Given the description of an element on the screen output the (x, y) to click on. 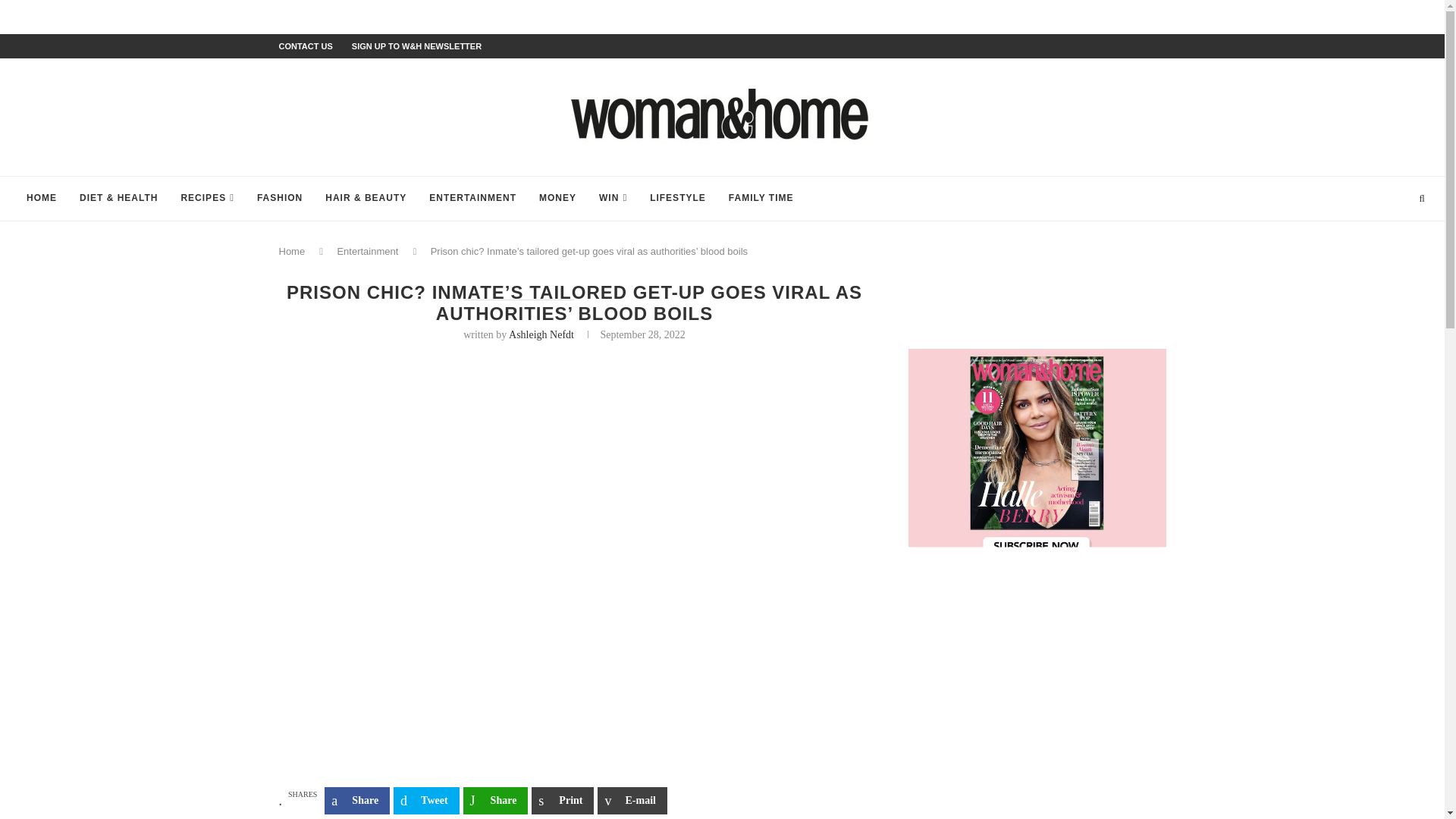
HOME (41, 198)
ENTERTAINMENT (472, 198)
Share on Share (357, 800)
Ashleigh Nefdt (540, 334)
Home (292, 251)
MONEY (557, 198)
FASHION (280, 198)
Share (495, 800)
Share on E-mail (631, 800)
RECIPES (206, 198)
Share on Share (495, 800)
Tweet (426, 800)
Share on Print (562, 800)
Share on Tweet (426, 800)
WIN (613, 198)
